Given the description of an element on the screen output the (x, y) to click on. 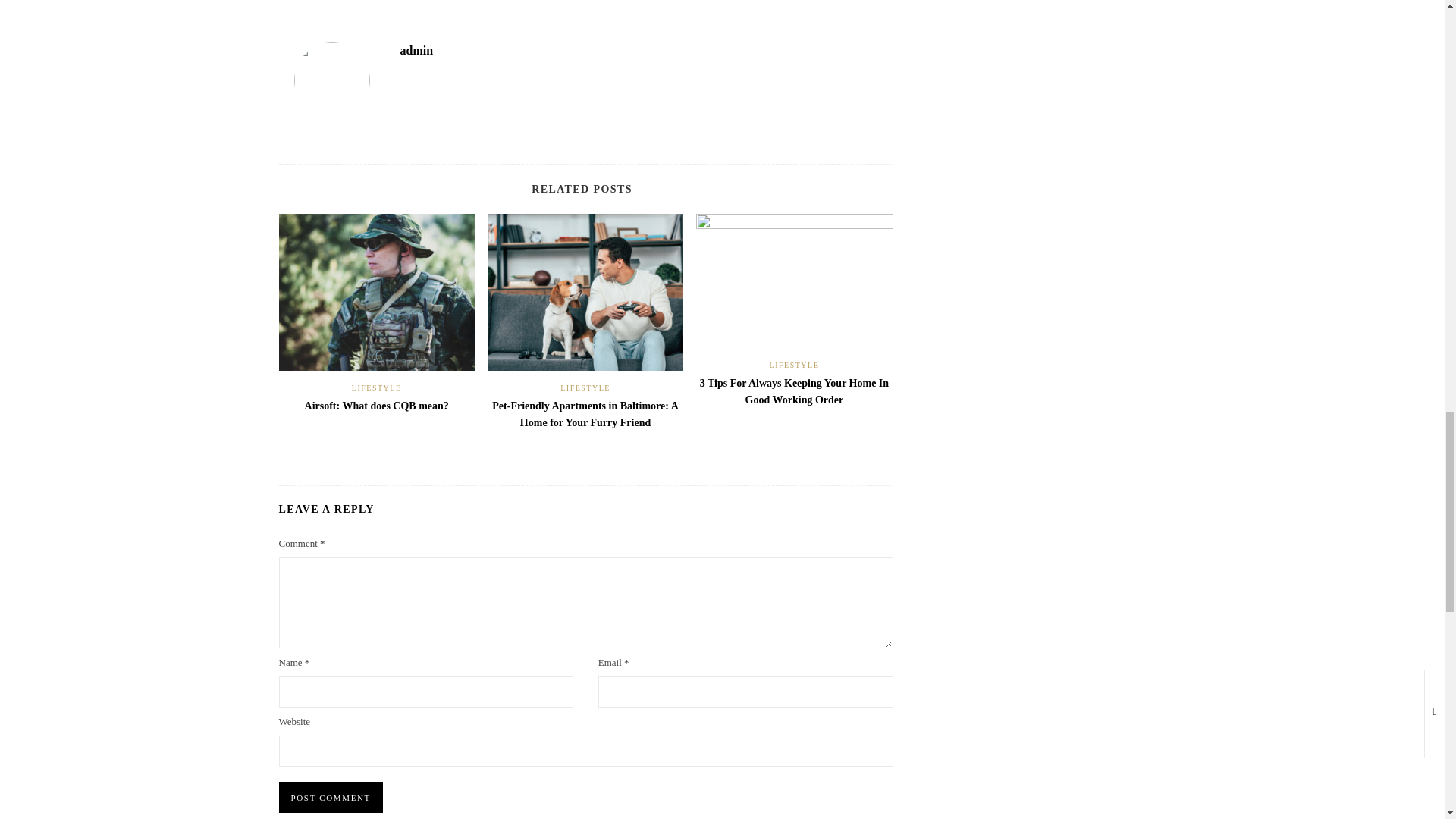
admin (416, 50)
Post Comment (330, 797)
